Given the description of an element on the screen output the (x, y) to click on. 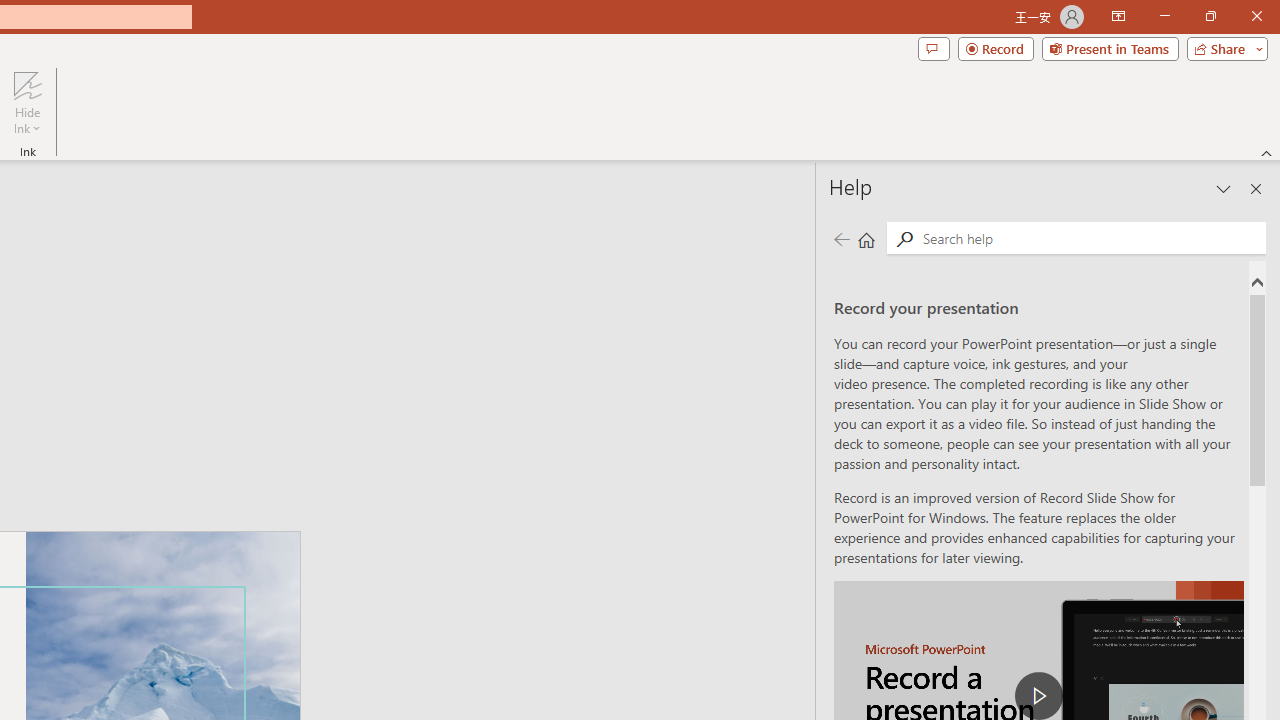
Hide Ink (27, 102)
Previous page (841, 238)
Hide Ink (27, 84)
